Given the description of an element on the screen output the (x, y) to click on. 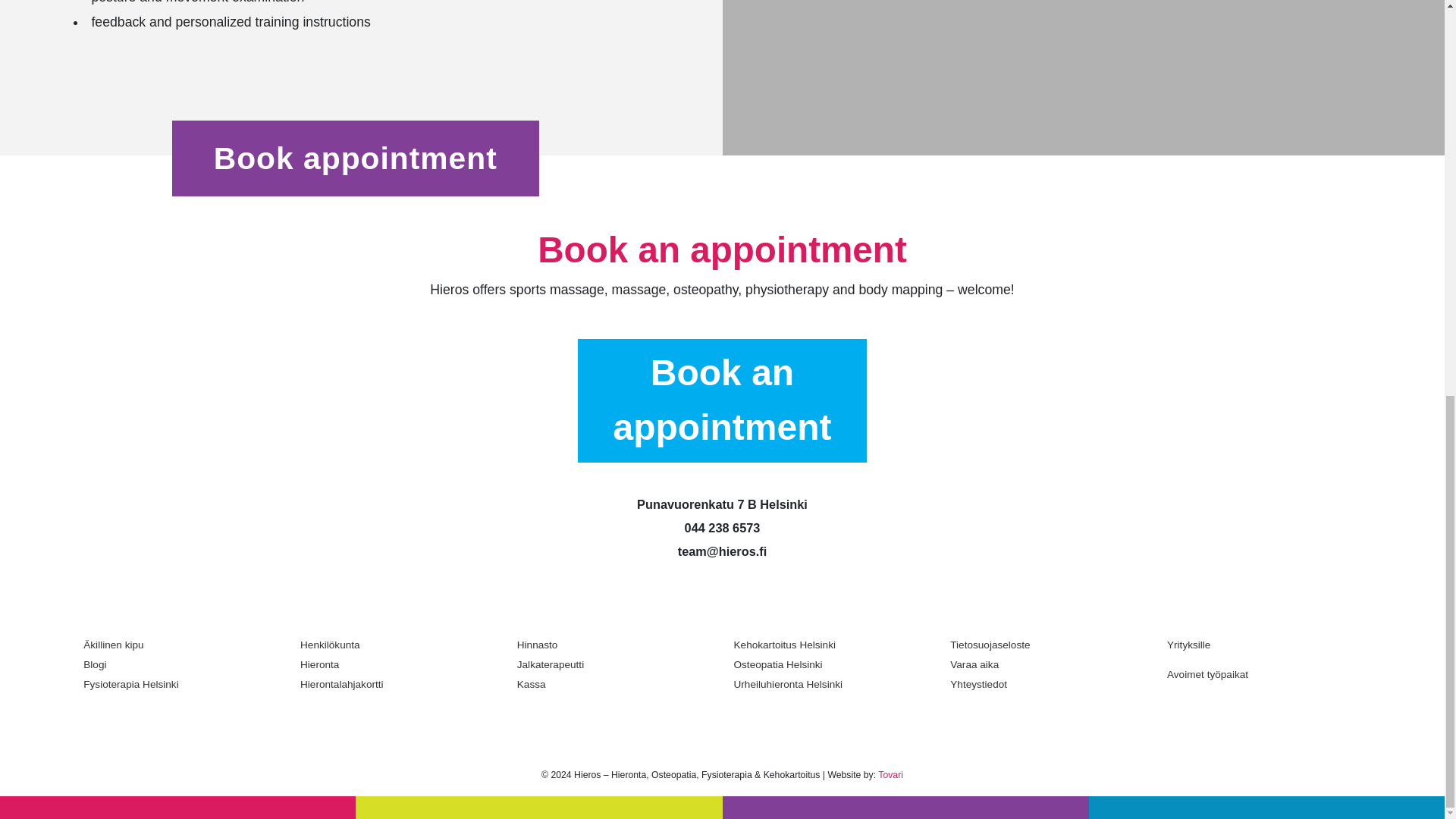
Kassa (613, 684)
Hieronta (397, 664)
Blogi (180, 664)
Fysioterapia Helsinki (180, 684)
Hinnasto (613, 645)
Yrityksille (1264, 650)
Yhteystiedot (1047, 684)
Hierontalahjakortti (397, 684)
Kehokartoitus Helsinki (830, 645)
Osteopatia Helsinki (830, 664)
Tovari (889, 774)
Jalkaterapeutti (613, 664)
Marketing agency Tovari (889, 774)
Tietosuojaseloste (1047, 645)
Varaa aika (1047, 664)
